Given the description of an element on the screen output the (x, y) to click on. 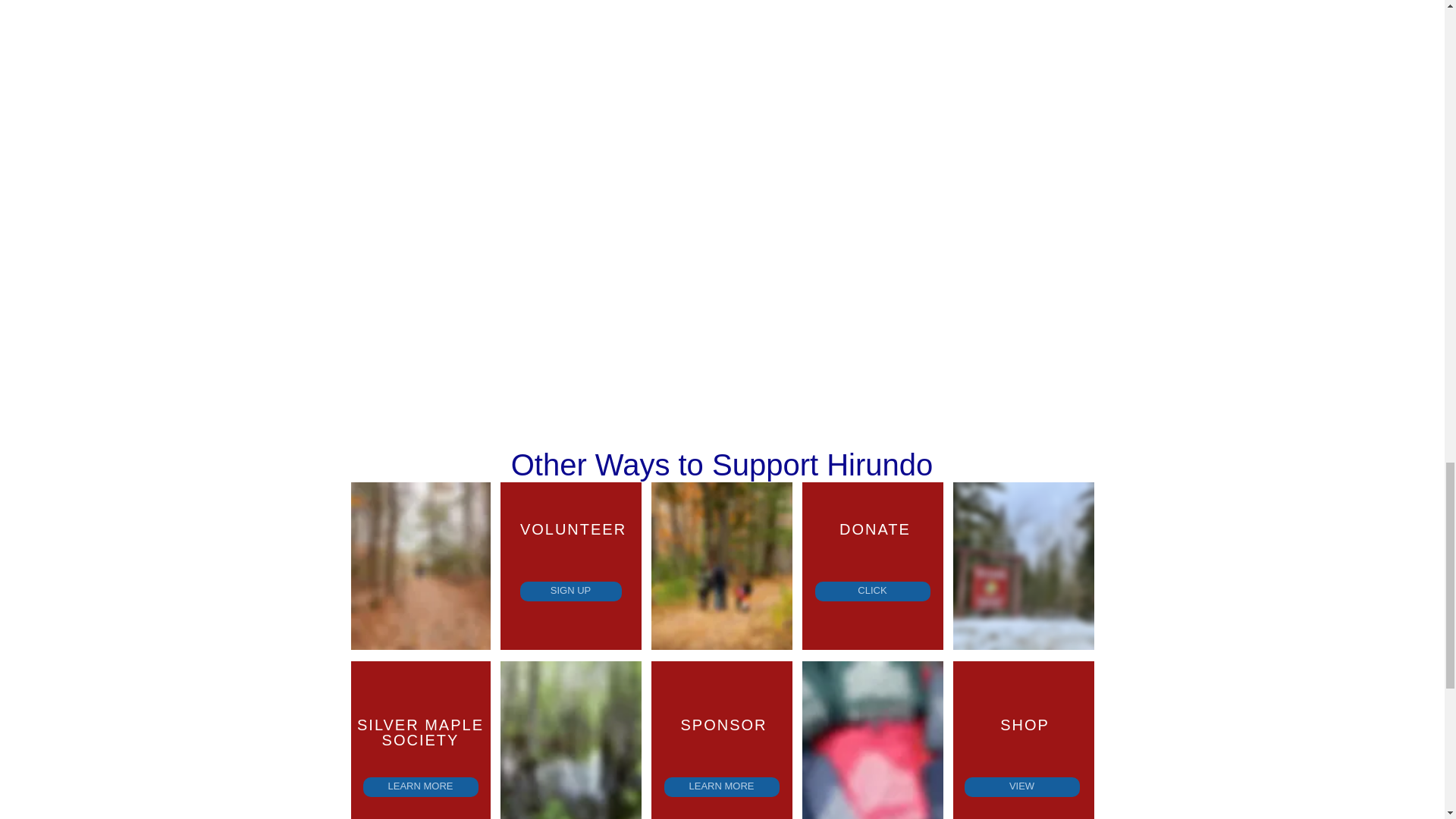
VIEW (1021, 786)
LEARN MORE (419, 786)
LEARN MORE (720, 786)
CLICK (871, 591)
SIGN UP (570, 591)
